Given the description of an element on the screen output the (x, y) to click on. 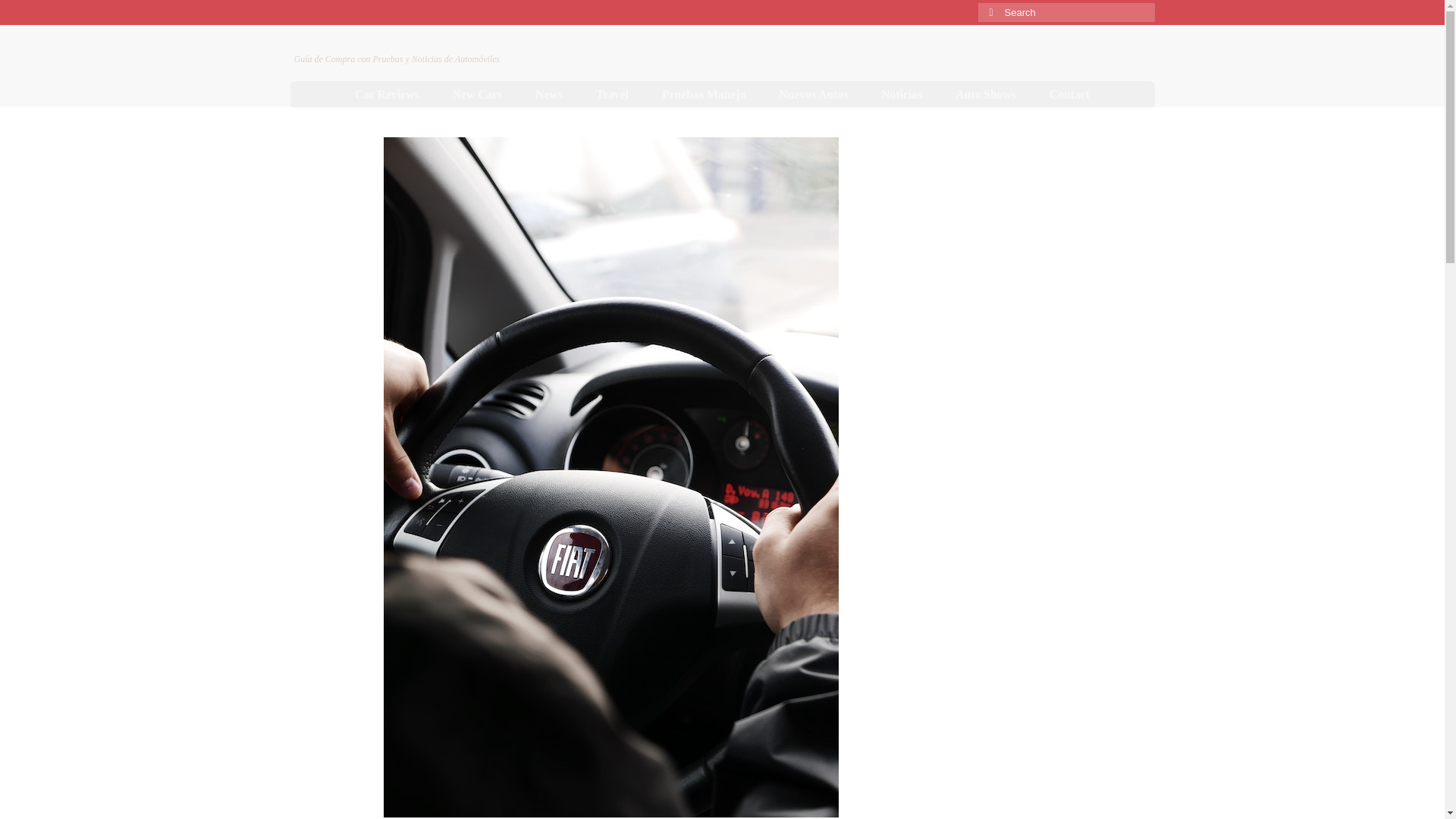
Travel (611, 94)
Car Reviews (386, 94)
AutomotorGeorgia.com (403, 42)
Noticias (901, 94)
Contact (1069, 94)
News (548, 94)
Auto Shows (985, 94)
New Cars (478, 94)
Pruebas Manejo (703, 94)
AutomotorGeorgia.com (403, 42)
Nuevos Autos (812, 94)
